Given the description of an element on the screen output the (x, y) to click on. 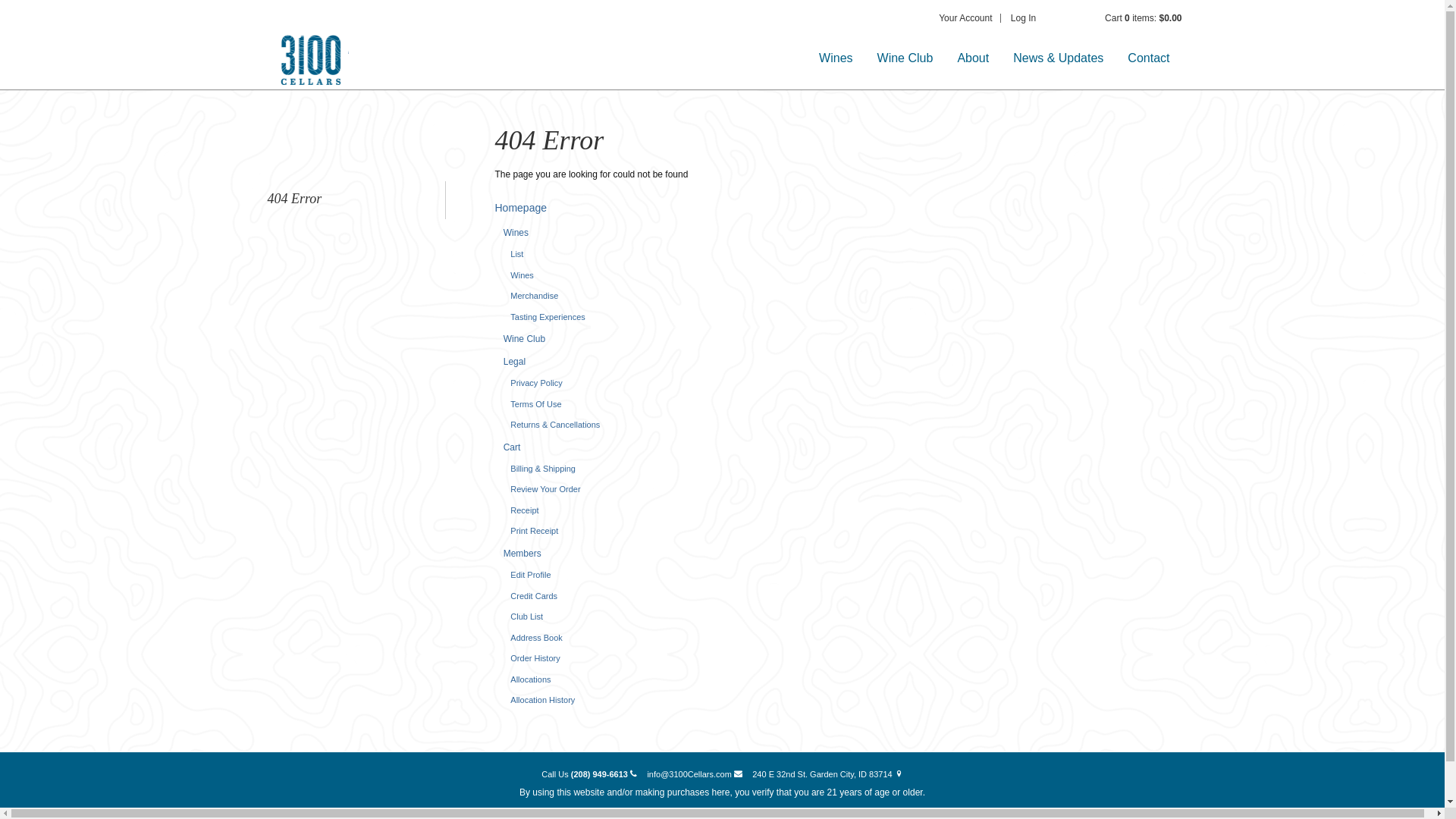
Homepage Element type: text (520, 207)
Wines Element type: text (521, 274)
Credit Cards Element type: text (533, 595)
Wine Club Element type: text (524, 338)
Tasting Experiences Element type: text (547, 316)
Print Receipt Element type: text (534, 530)
News & Updates Element type: text (1058, 57)
Call Us (208) 949-6613 Element type: text (589, 774)
Receipt Element type: text (524, 509)
Review Your Order Element type: text (545, 488)
Address Book Element type: text (535, 637)
Contact Element type: text (1148, 57)
Order History Element type: text (534, 657)
Legal Element type: text (514, 361)
Returns & Cancellations Element type: text (554, 424)
Log In Element type: text (1022, 17)
Privacy Policy Element type: text (535, 382)
Billing & Shipping Element type: text (542, 468)
Terms Of Use Element type: text (535, 403)
Your Account Element type: text (964, 17)
List Element type: text (516, 253)
Merchandise Element type: text (534, 295)
Edit Profile Element type: text (530, 574)
Allocations Element type: text (530, 679)
About Element type: text (972, 57)
240 E 32nd St. Garden City, ID 83714 Element type: text (827, 774)
Members Element type: text (522, 553)
Club List Element type: text (526, 616)
Wines Element type: text (515, 232)
Allocation History Element type: text (542, 699)
Cart 0 items: $0.00 Element type: text (1142, 17)
info@3100Cellars.com Element type: text (694, 774)
3100 Cellars Element type: text (309, 57)
Wines Element type: text (835, 57)
Cart Element type: text (511, 447)
Wine Club Element type: text (905, 57)
